Given the description of an element on the screen output the (x, y) to click on. 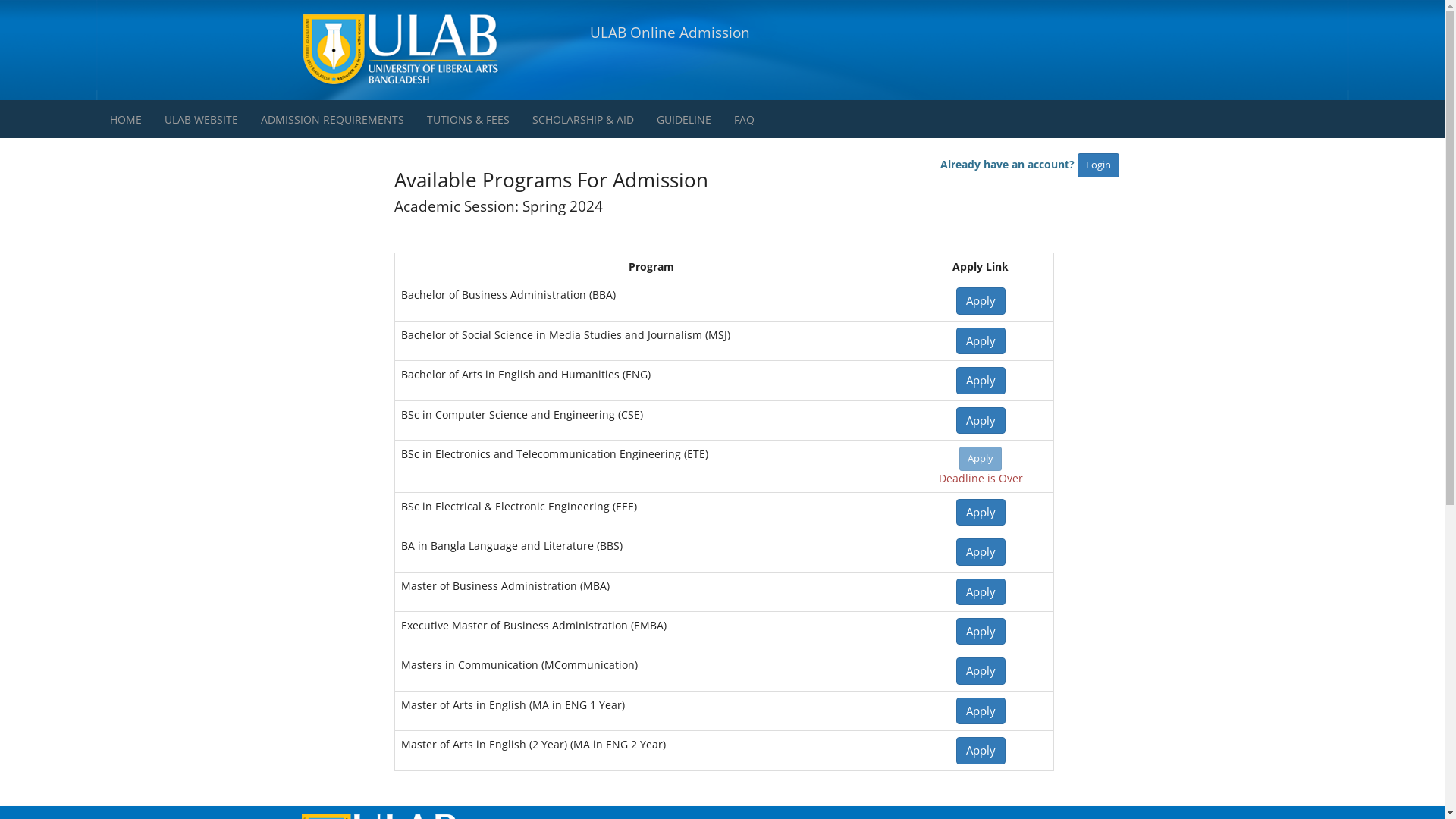
Apply Element type: text (980, 631)
Apply Element type: text (980, 511)
Apply Element type: text (980, 380)
TUTIONS & FEES Element type: text (467, 119)
Apply Element type: text (980, 300)
GUIDELINE Element type: text (683, 119)
SCHOLARSHIP & AID Element type: text (582, 119)
Apply Element type: text (980, 670)
Apply Element type: text (980, 551)
ULAB WEBSITE Element type: text (201, 119)
Apply Element type: text (980, 710)
FAQ Element type: text (743, 119)
HOME Element type: text (125, 119)
Login Element type: text (1098, 165)
Apply Element type: text (980, 340)
Apply Element type: text (980, 420)
ADMISSION REQUIREMENTS Element type: text (332, 119)
Apply Element type: text (980, 458)
Apply Element type: text (980, 750)
Apply Element type: text (980, 591)
